Given the description of an element on the screen output the (x, y) to click on. 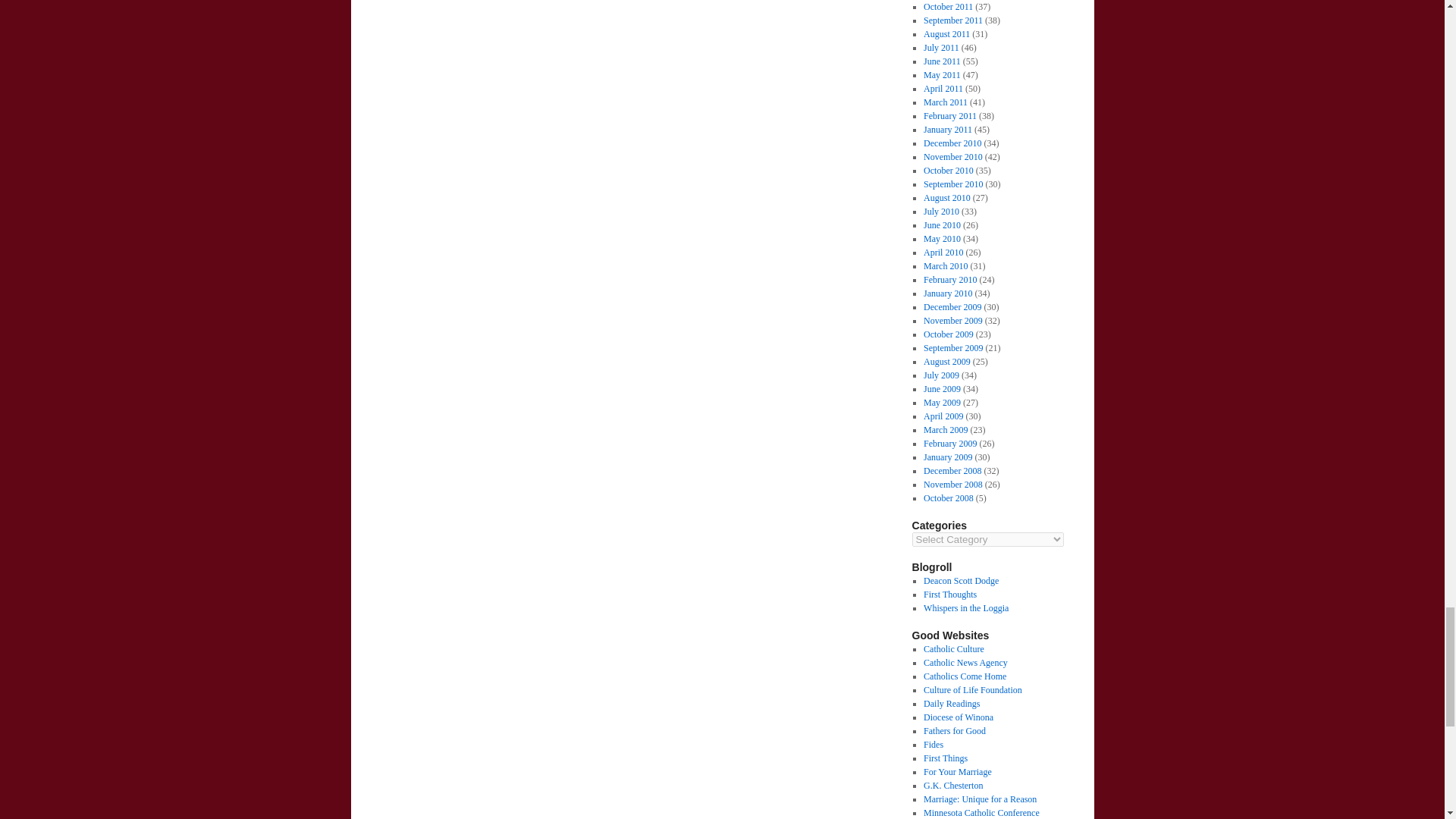
Rocco Palmo (966, 607)
Lectionary Readings for the Day (951, 703)
Catholicos Diaconos (960, 580)
MCC news and resources (981, 812)
For those considering returning to the Catholic Church (964, 675)
Information re: Diocese of Winona (957, 716)
Website of all things Chesterton! (952, 785)
USCCB website to improve contemporary marriage (957, 771)
